Given the description of an element on the screen output the (x, y) to click on. 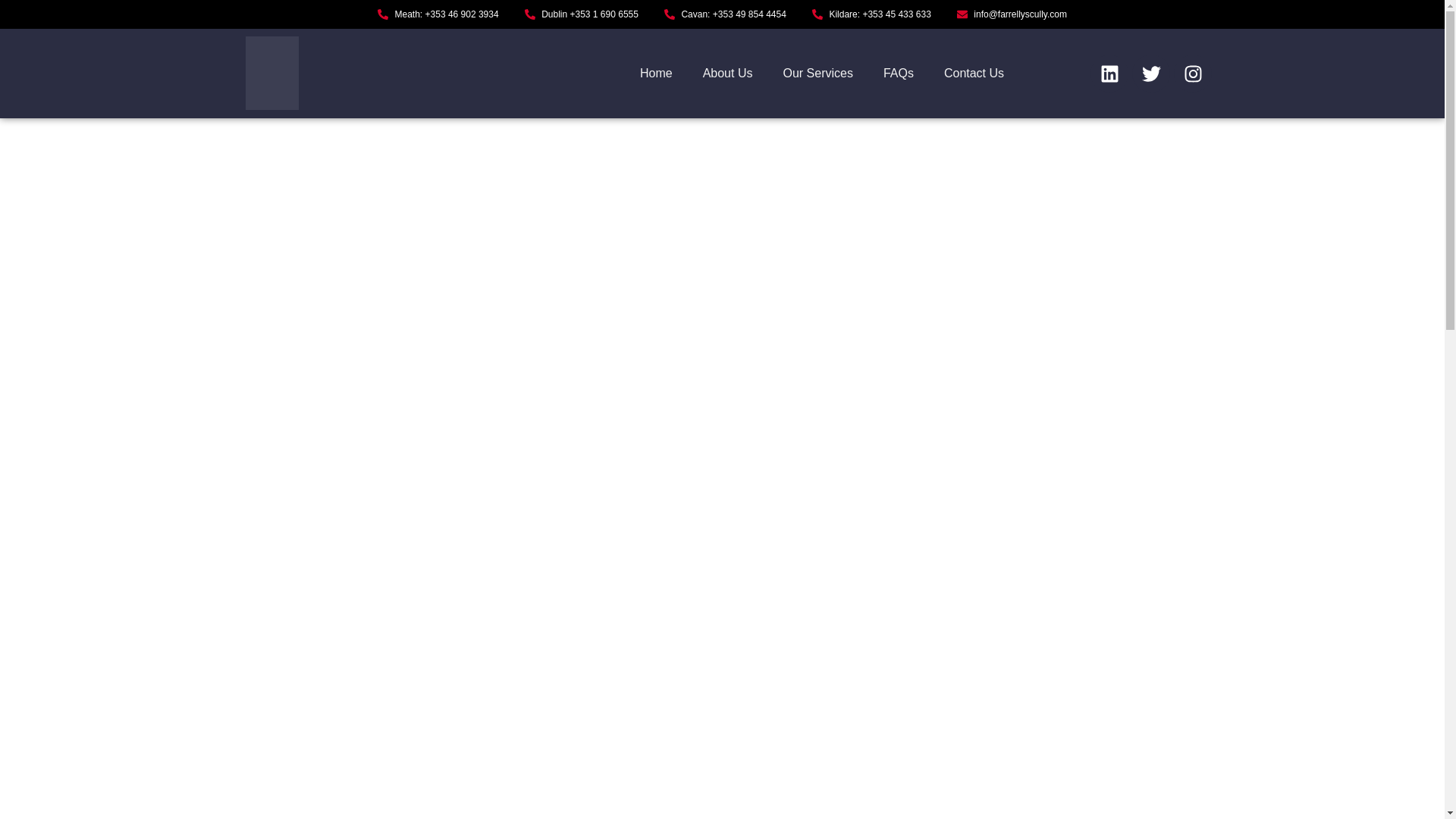
Our Services (817, 72)
FAQs (897, 72)
Contact Us (973, 72)
About Us (727, 72)
Home (655, 72)
